Given the description of an element on the screen output the (x, y) to click on. 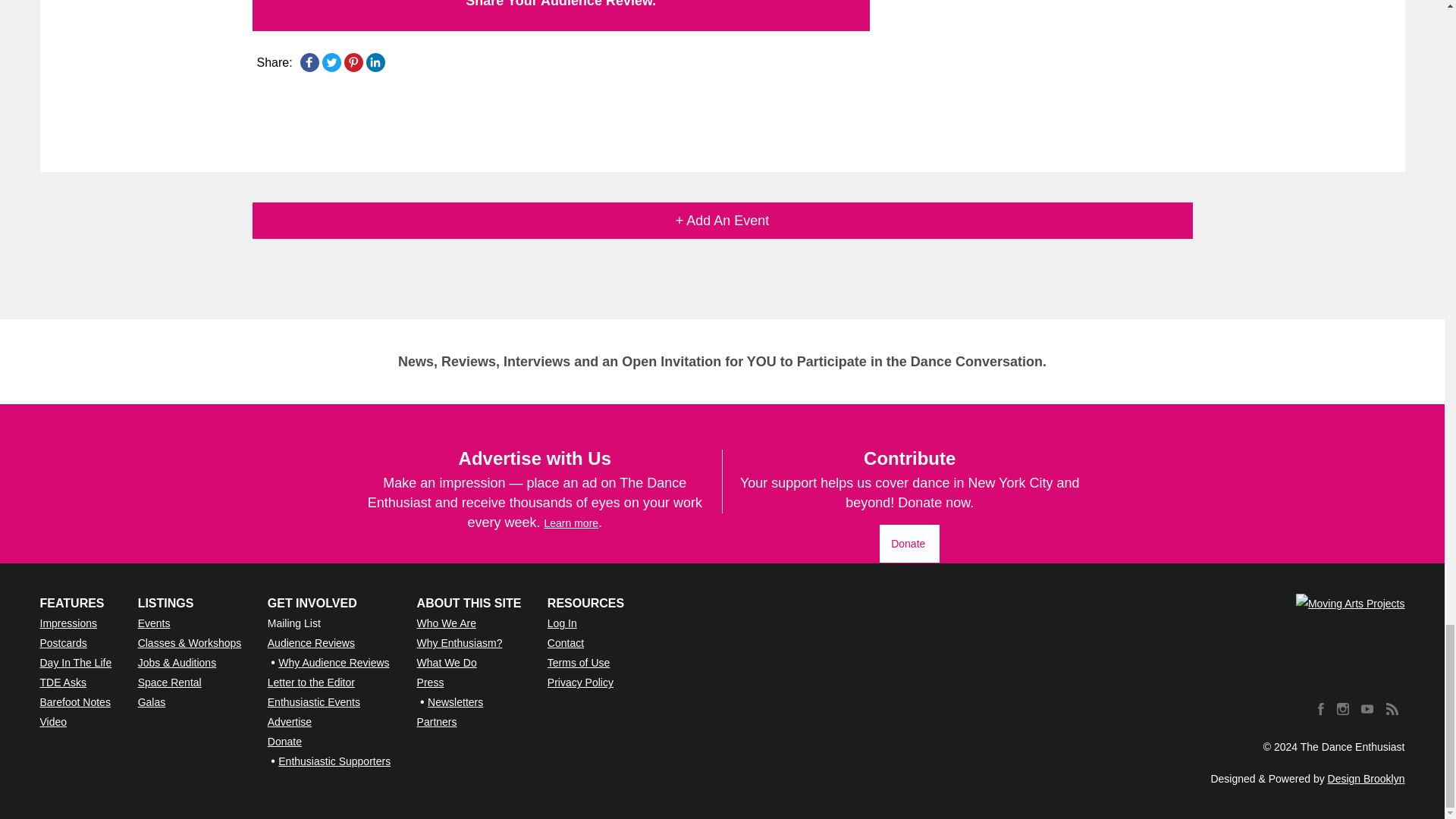
Pinterest (353, 61)
Twitter (331, 61)
Facebook (309, 61)
LinkedIn (375, 61)
